Given the description of an element on the screen output the (x, y) to click on. 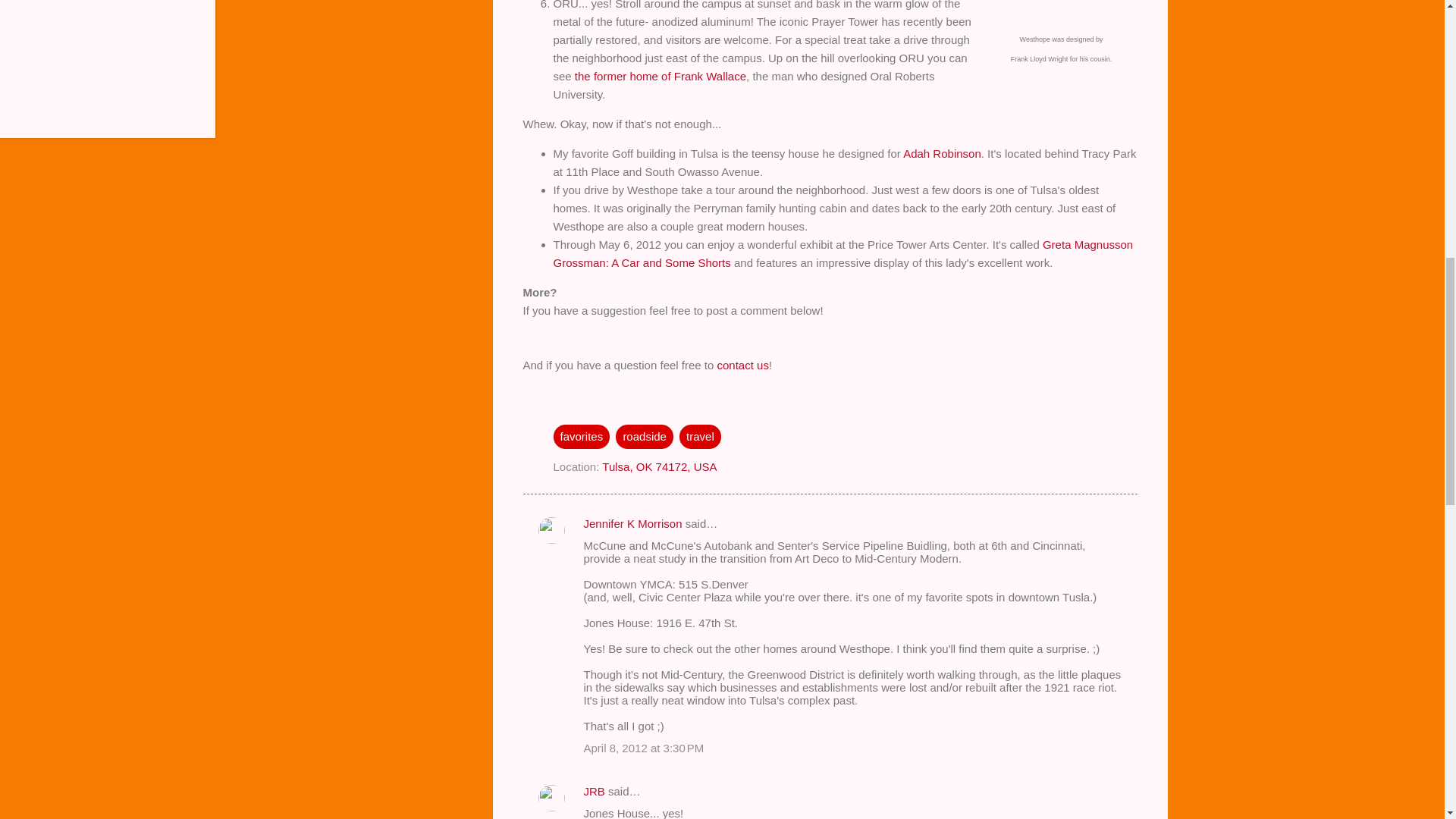
Adah Robinson (941, 153)
Jennifer K Morrison (632, 522)
travel (699, 436)
roadside (643, 436)
Tulsa, OK 74172, USA (659, 465)
favorites (581, 436)
JRB (594, 790)
contact us (742, 364)
comment permalink (643, 748)
the former home of Frank Wallace (660, 75)
Greta Magnusson Grossman: A Car and Some Shorts (843, 253)
